Given the description of an element on the screen output the (x, y) to click on. 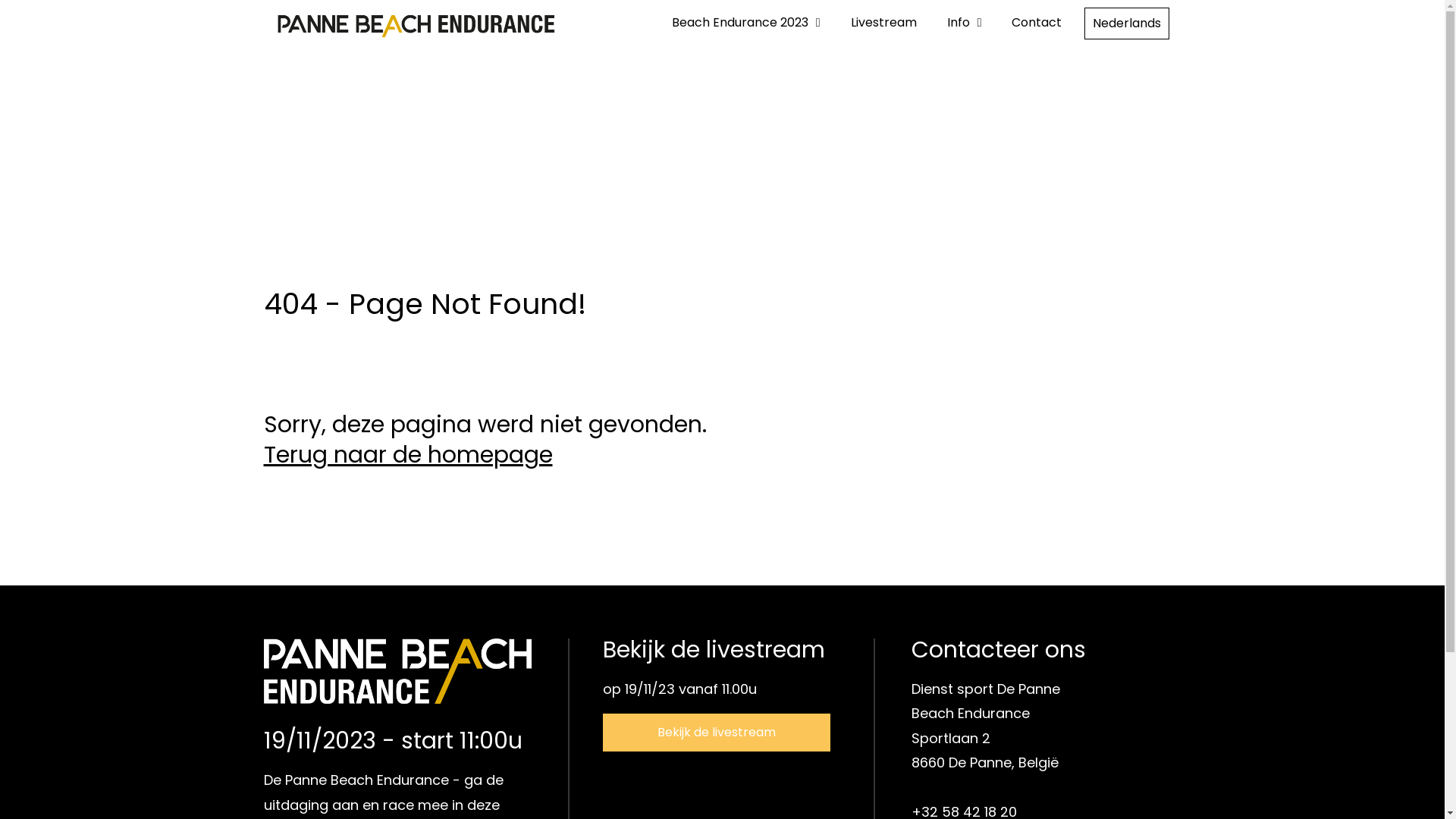
Info Element type: text (964, 22)
Nederlands Element type: text (1126, 23)
Bekijk de livestream Element type: text (716, 732)
Beach Endurance 2023 Element type: text (745, 22)
Terug naar de homepage Element type: text (407, 454)
Panne Beach Endurance Element type: hover (397, 683)
Contact Element type: text (1036, 22)
Livestream Element type: text (883, 22)
